Given the description of an element on the screen output the (x, y) to click on. 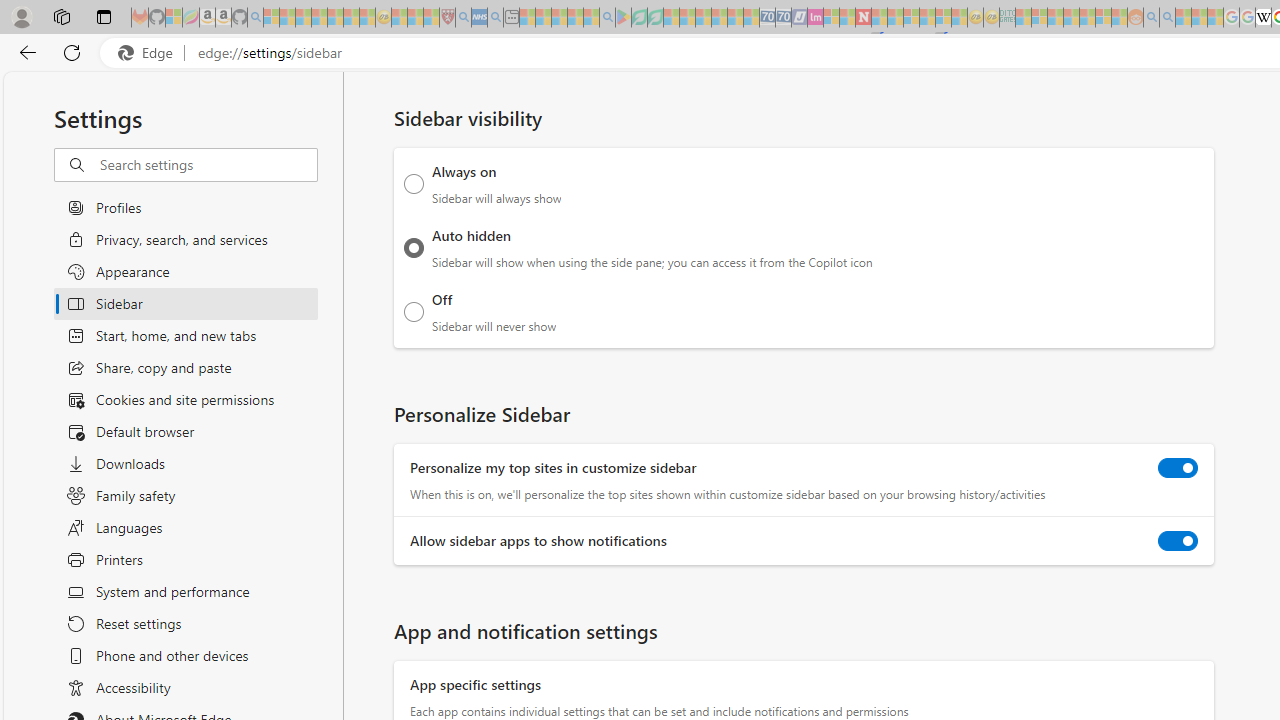
New Report Confirms 2023 Was Record Hot | Watch - Sleeping (335, 17)
Jobs - lastminute.com Investor Portal - Sleeping (815, 17)
Target page - Wikipedia (1263, 17)
